Given the description of an element on the screen output the (x, y) to click on. 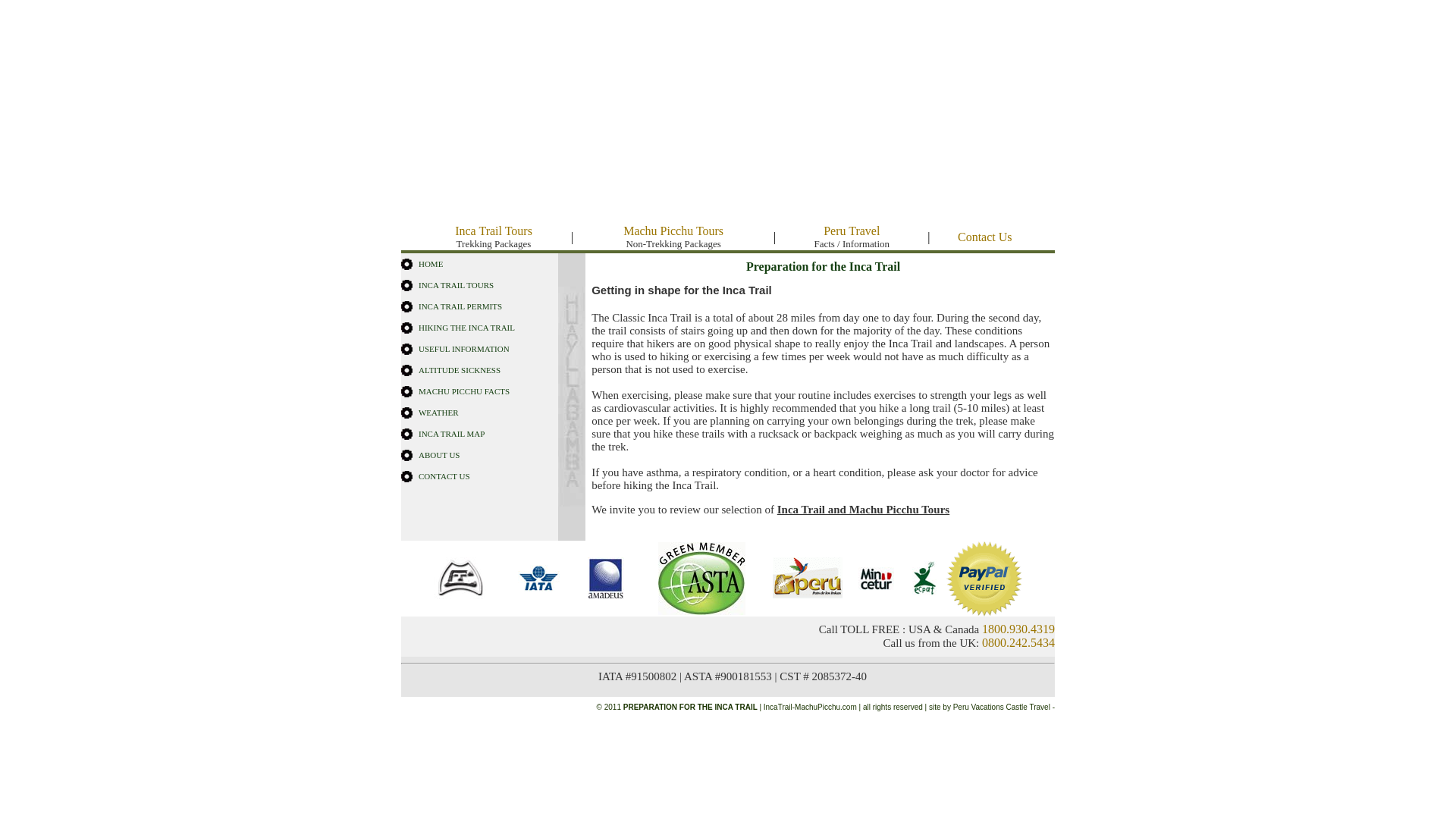
Contact Us (493, 236)
USEFUL INFORMATION (673, 236)
Preparation for the Inca Trail (984, 236)
Inca Trail and Machu Picchu Tours (464, 347)
HIKING THE INCA TRAIL (822, 266)
INCA TRAIL MAP (863, 509)
CONTACT US (467, 327)
INCA TRAIL PERMITS (451, 433)
MACHU PICCHU FACTS (444, 475)
HOME (460, 306)
WEATHER (464, 390)
Peru Vacations Castle Travel (430, 263)
ABOUT US (438, 411)
